Given the description of an element on the screen output the (x, y) to click on. 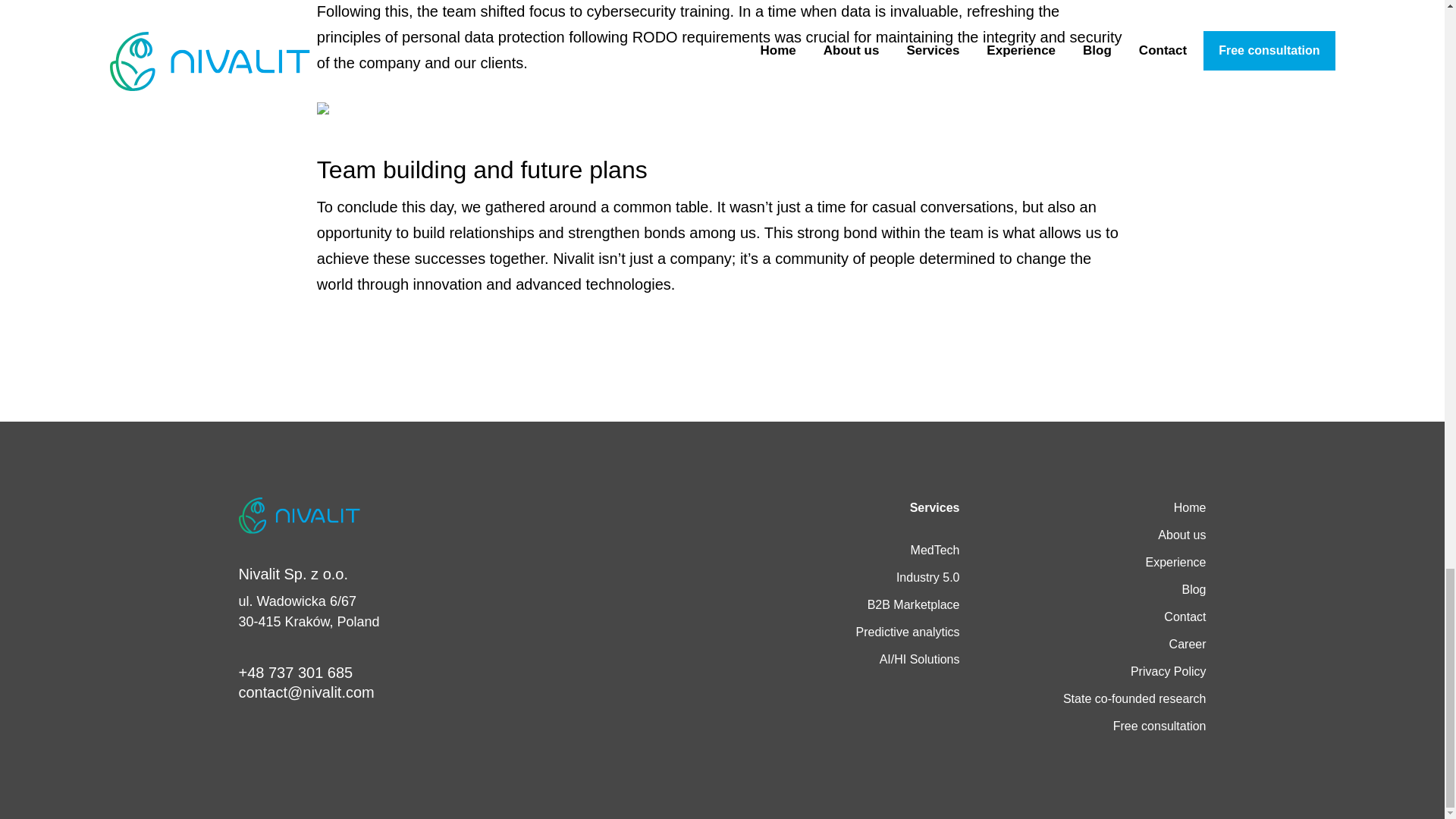
Industry 5.0 (927, 577)
Services (934, 507)
Home (1190, 507)
B2B Marketplace (913, 605)
MedTech (935, 550)
Nivalit (298, 514)
About us (1181, 535)
Predictive analytics (907, 632)
nivalit logo (298, 515)
